Given the description of an element on the screen output the (x, y) to click on. 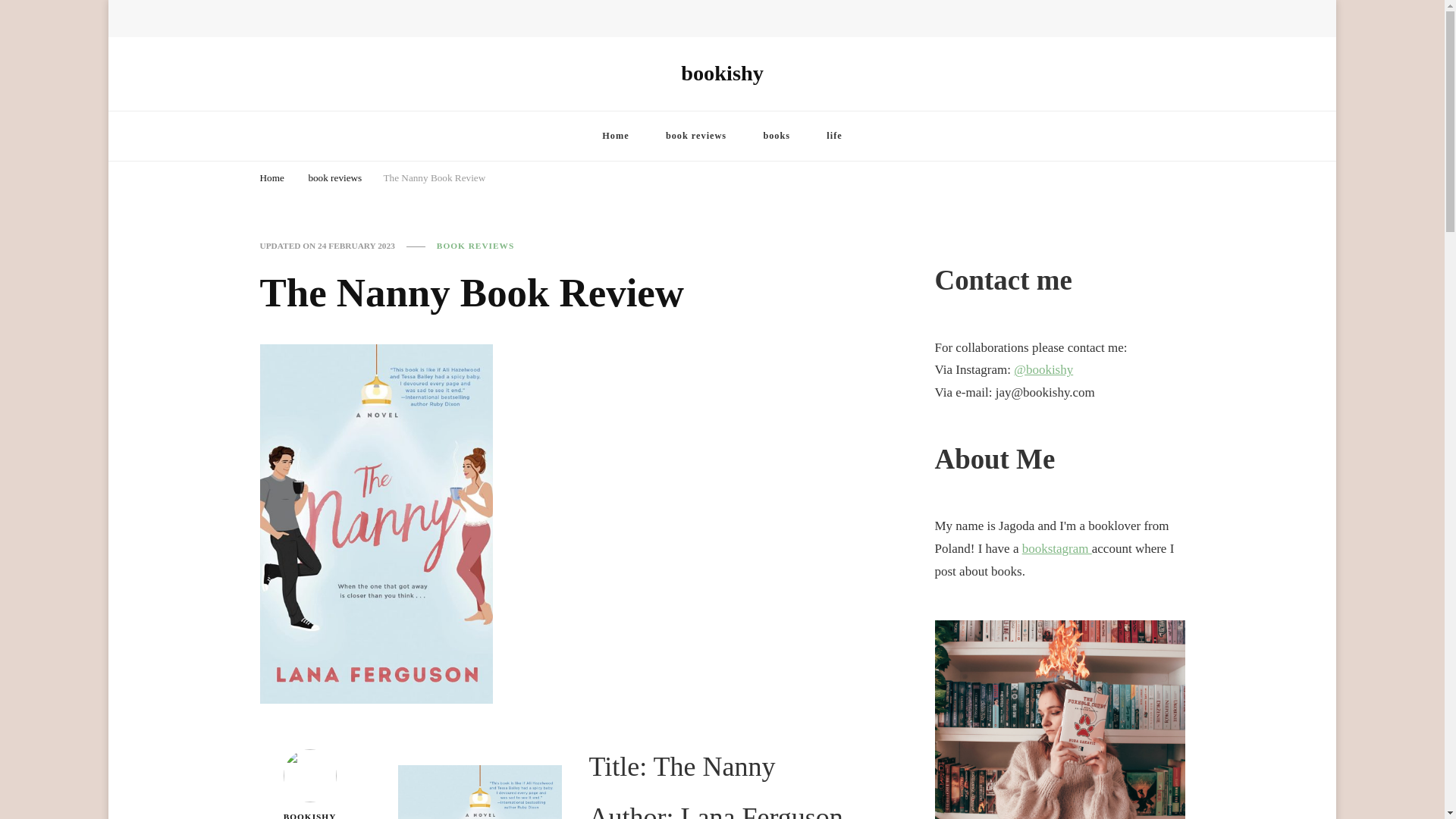
life (834, 135)
books (775, 135)
book reviews (695, 135)
Home (271, 178)
BOOKISHY (309, 784)
Home (615, 135)
Search (1148, 22)
book reviews (334, 178)
The Nanny Book Review (433, 178)
BOOK REVIEWS (474, 245)
